Given the description of an element on the screen output the (x, y) to click on. 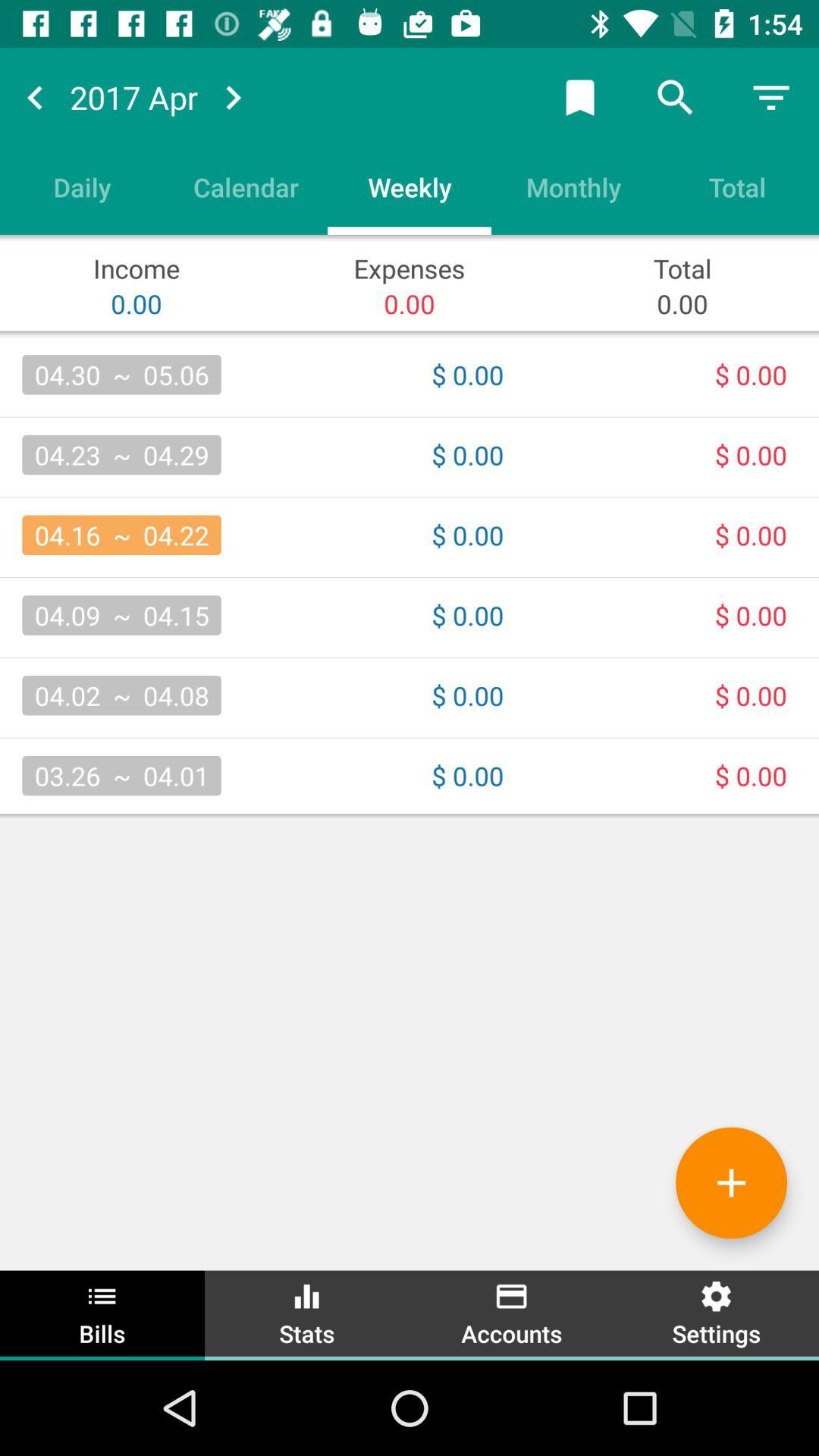
search (675, 97)
